Given the description of an element on the screen output the (x, y) to click on. 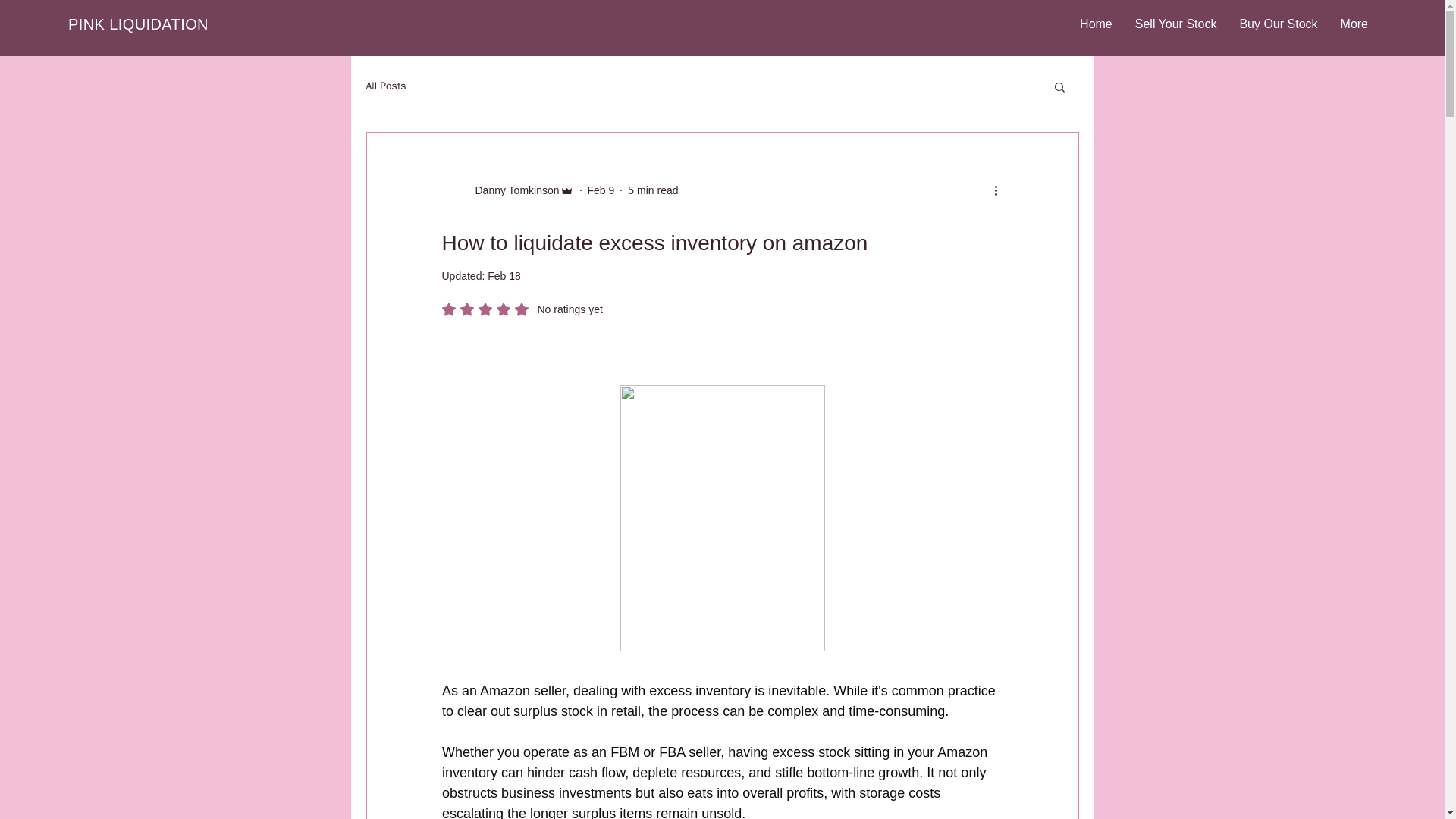
Danny Tomkinson (507, 190)
Buy Our Stock (1277, 23)
PINK LIQUIDATION (138, 23)
5 min read (652, 189)
Feb 18 (504, 275)
All Posts (385, 86)
Feb 9 (601, 189)
Danny Tomkinson (512, 189)
Home (521, 309)
Sell Your Stock (1096, 23)
